Given the description of an element on the screen output the (x, y) to click on. 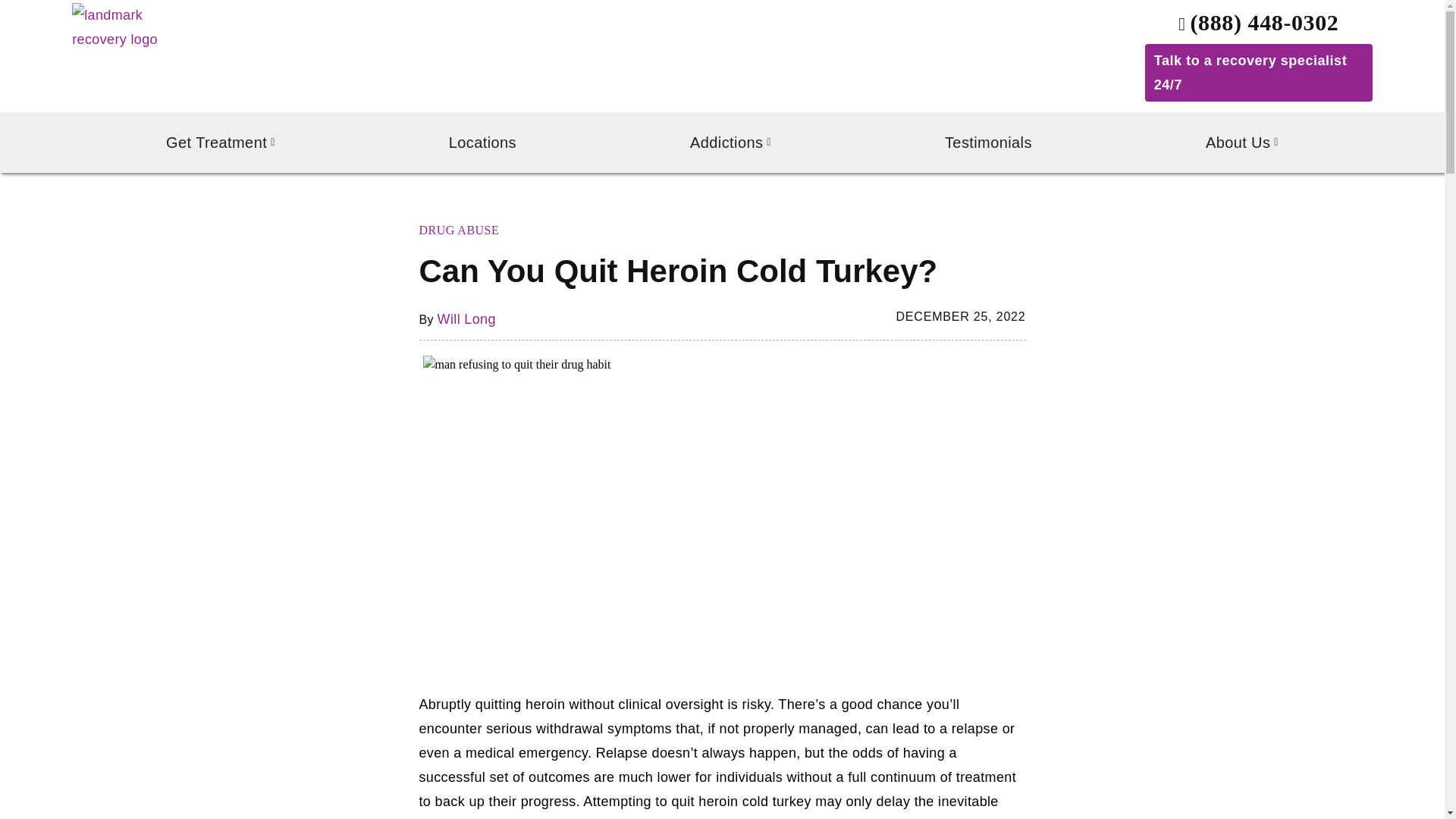
About Us (1241, 142)
Will Long (467, 318)
Get Treatment (220, 142)
Locations (482, 142)
Addictions (730, 142)
Testimonials (988, 142)
